Given the description of an element on the screen output the (x, y) to click on. 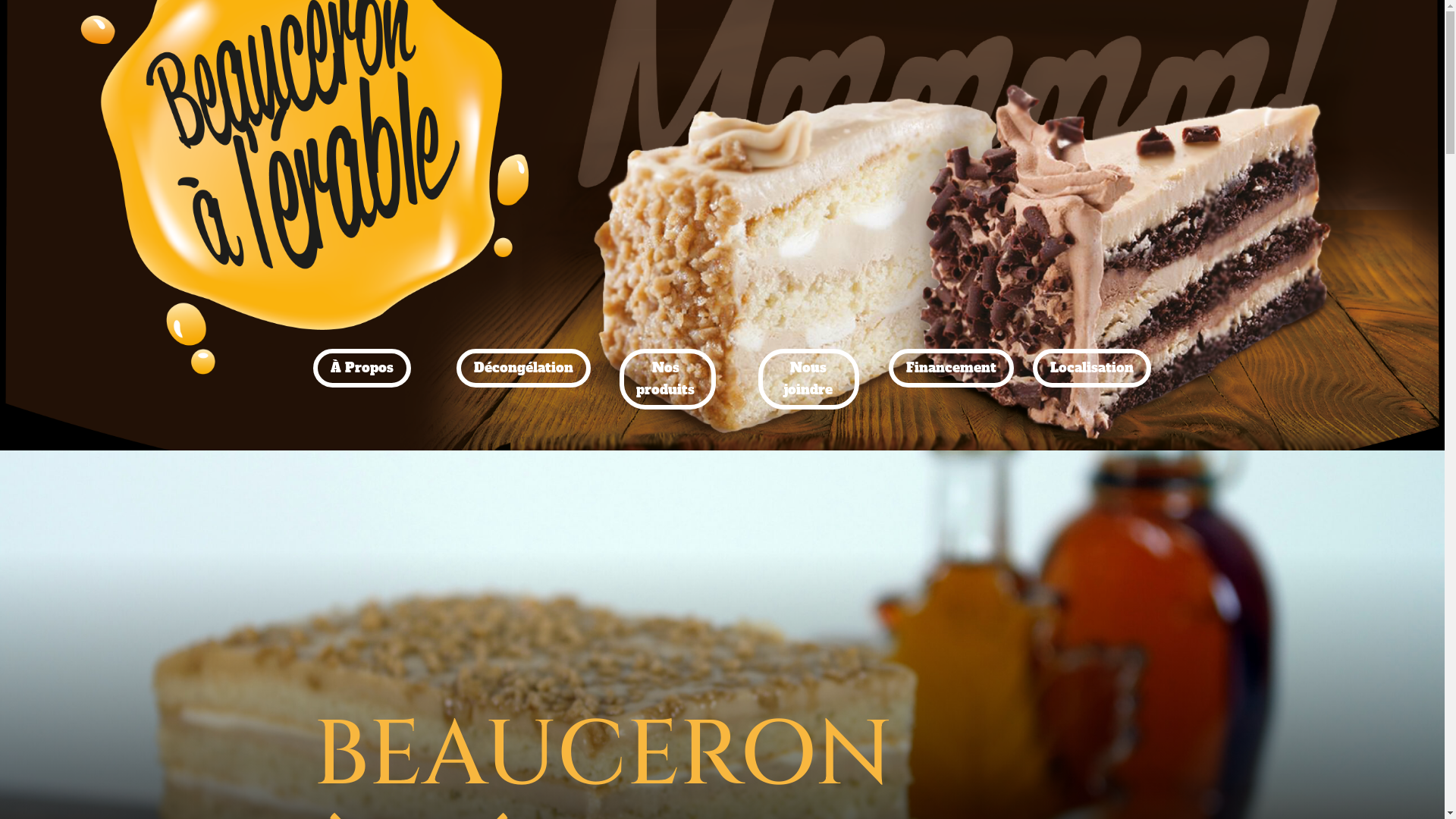
Localisation Element type: text (1091, 367)
Nos produits Element type: text (667, 378)
Nous joindre Element type: text (808, 378)
Financement Element type: text (950, 367)
